Given the description of an element on the screen output the (x, y) to click on. 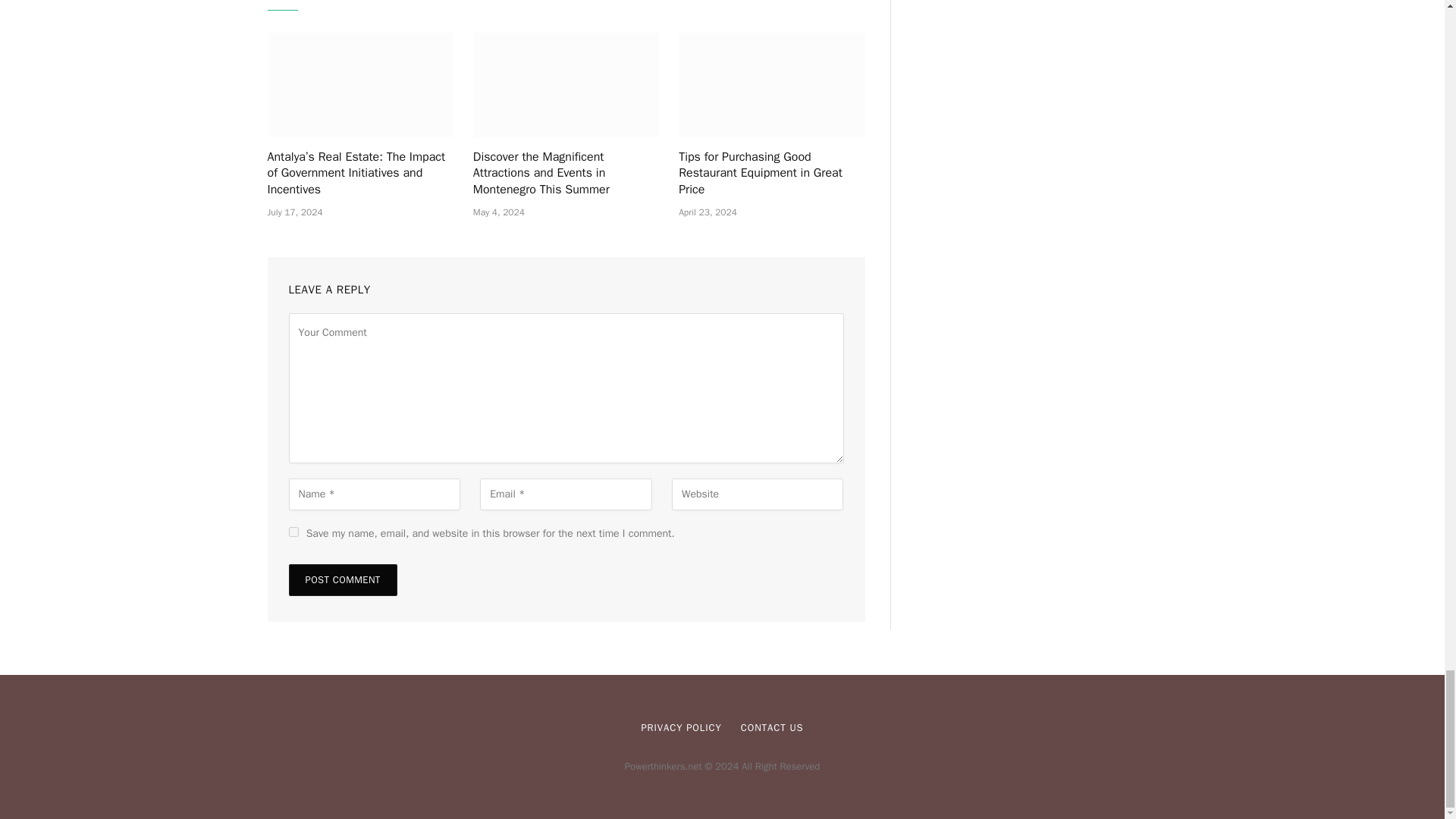
yes (293, 532)
Post Comment (342, 580)
